Given the description of an element on the screen output the (x, y) to click on. 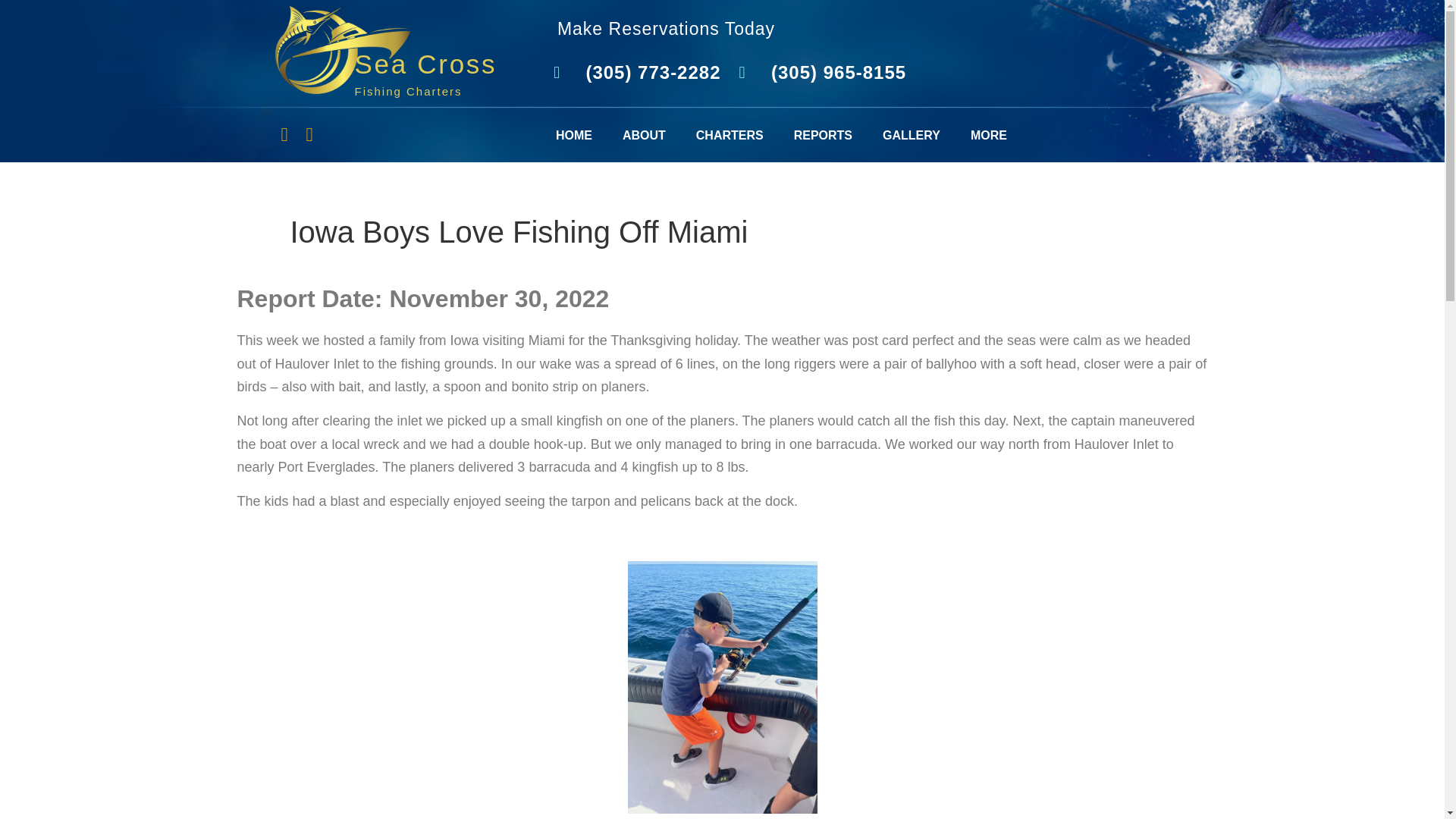
GALLERY (911, 135)
ABOUT (644, 135)
HOME (573, 135)
CHARTERS (729, 135)
MORE (988, 135)
REPORTS (822, 135)
